Given the description of an element on the screen output the (x, y) to click on. 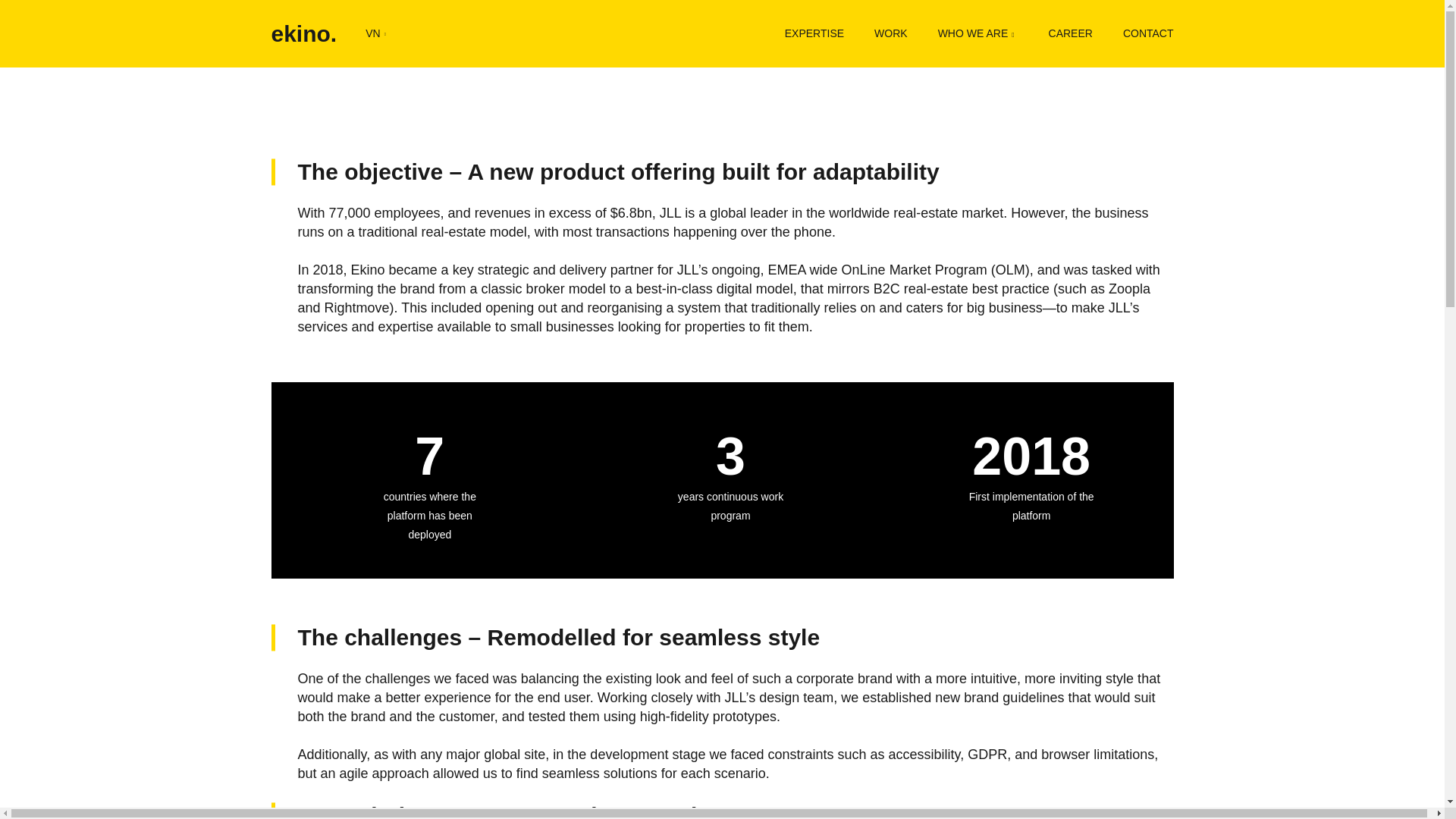
VN (375, 33)
CONTACT (1147, 33)
WORK (891, 33)
EXPERTISE (814, 33)
CAREER (1070, 33)
WHO WE ARE (977, 33)
ekino. (303, 33)
